Given the description of an element on the screen output the (x, y) to click on. 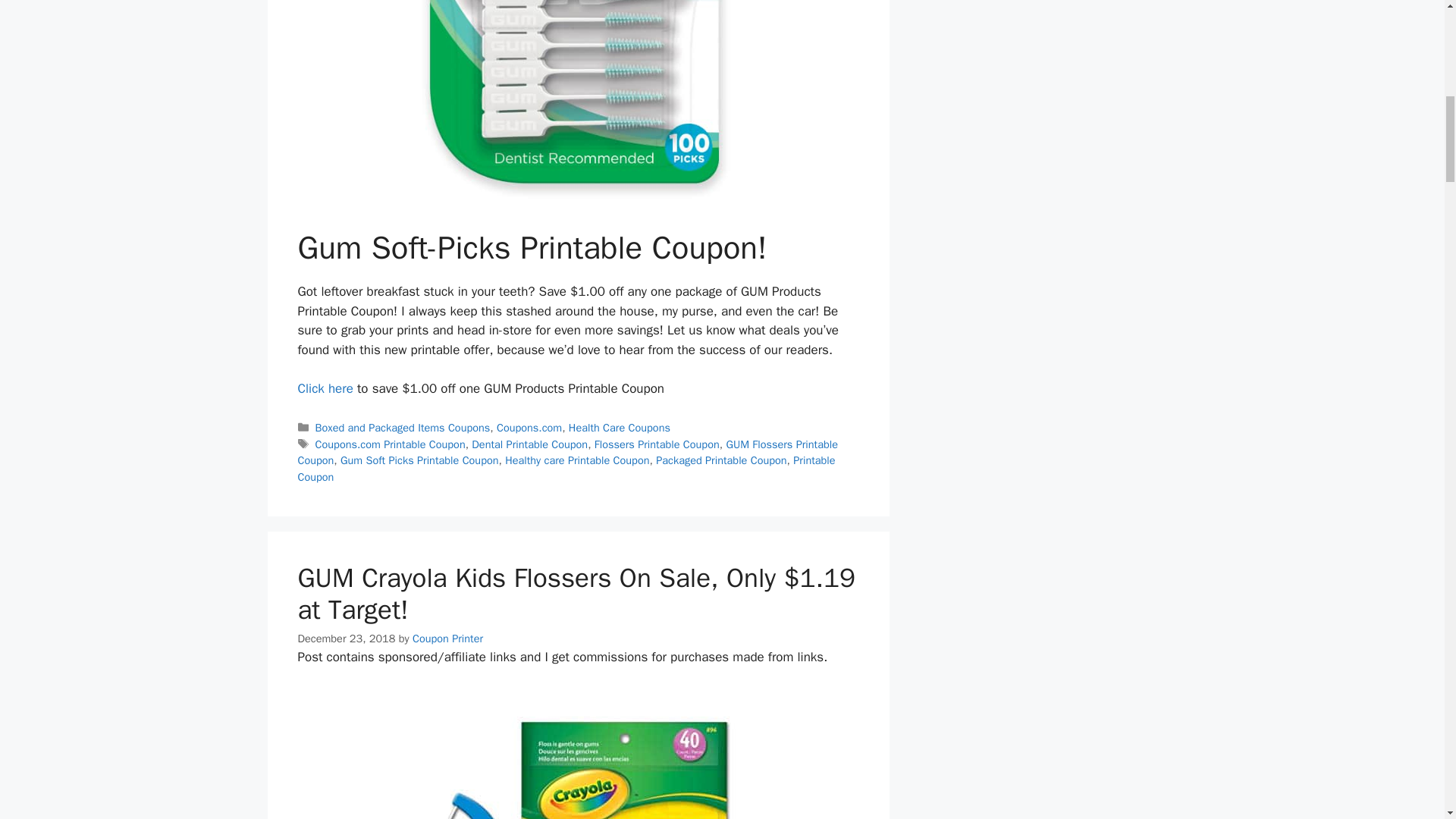
View all posts by Coupon Printer (447, 638)
